Given the description of an element on the screen output the (x, y) to click on. 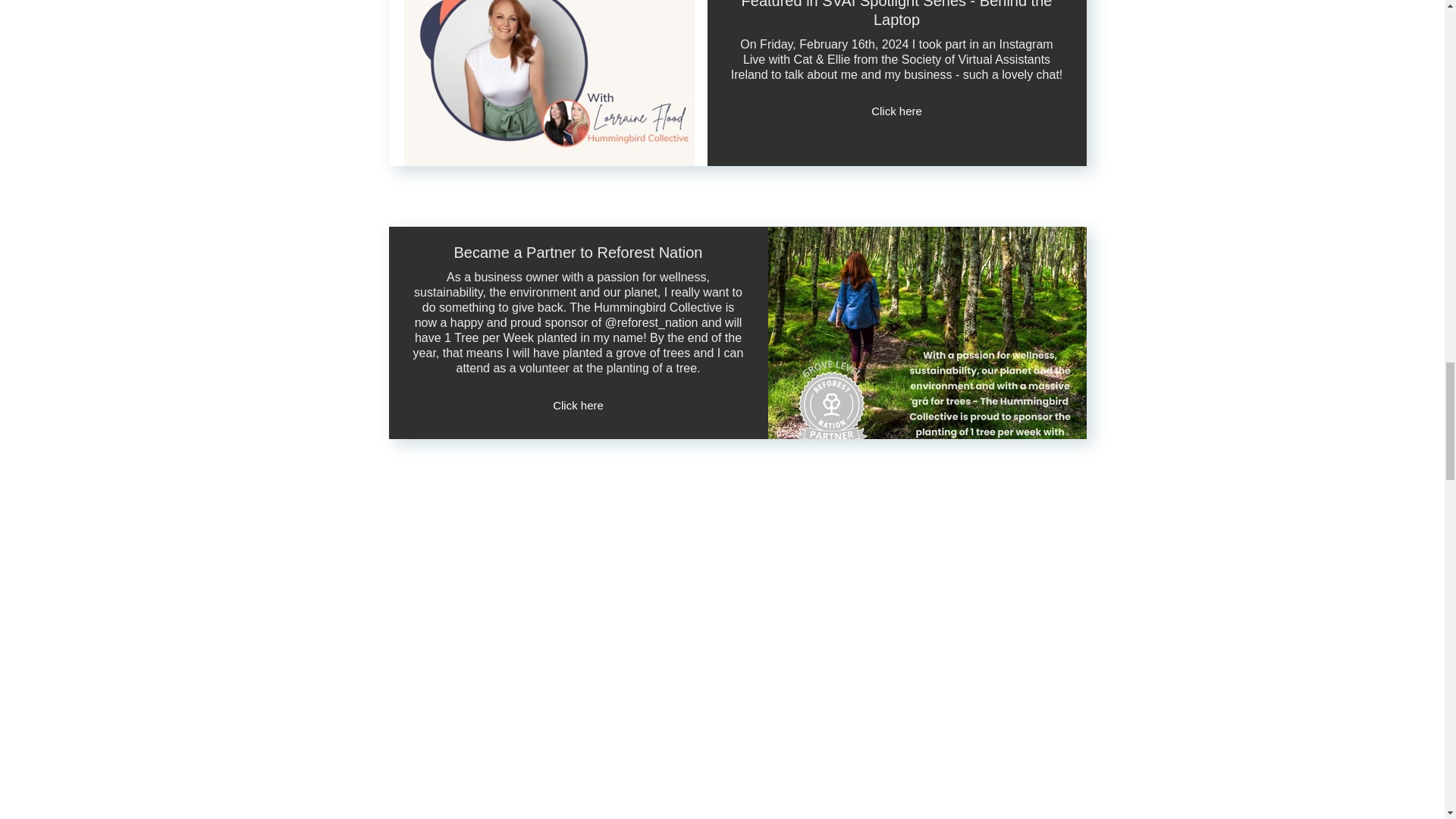
Click here (578, 405)
Click here (897, 111)
